Given the description of an element on the screen output the (x, y) to click on. 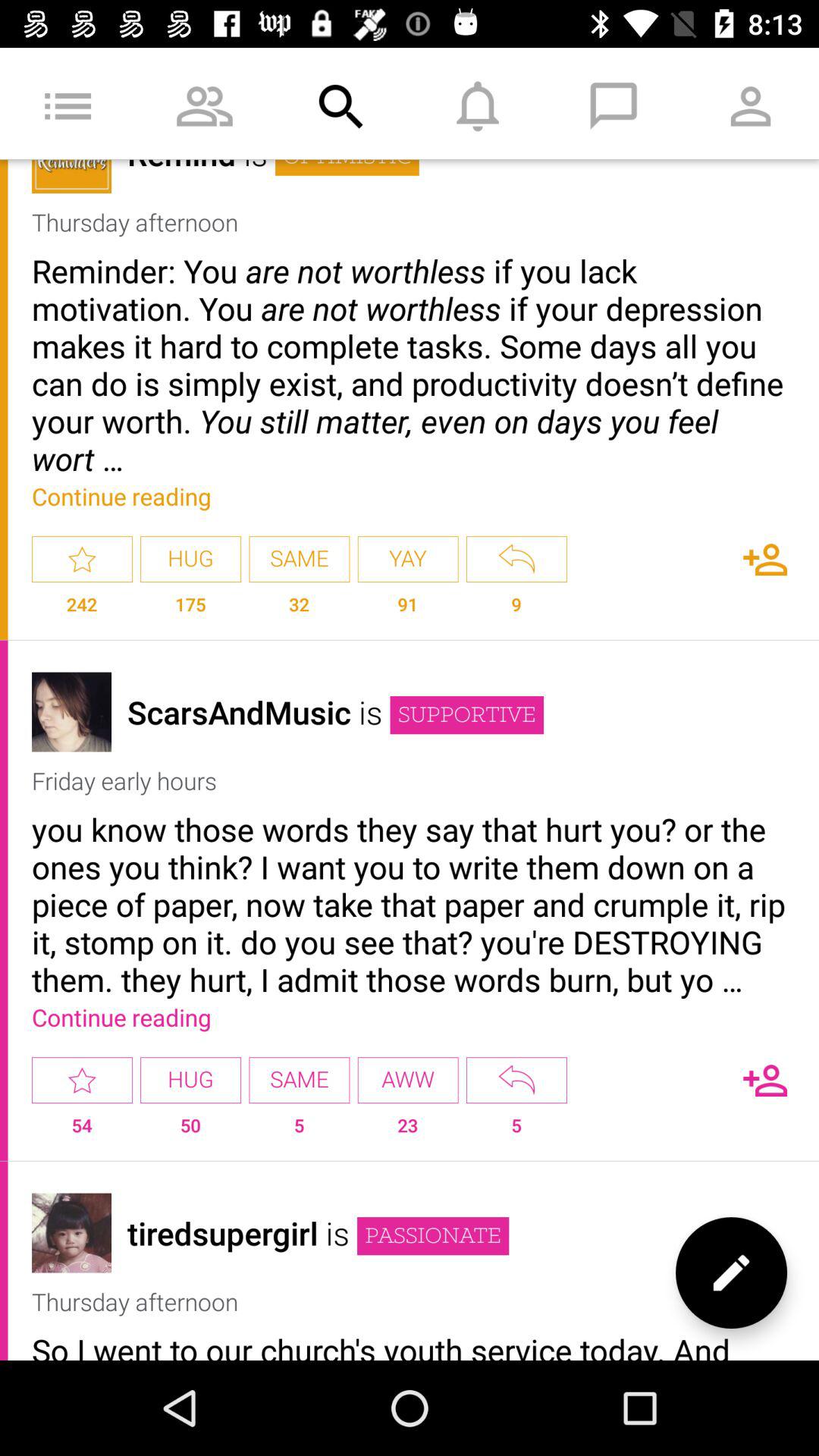
display picture of the contact (71, 1232)
